Given the description of an element on the screen output the (x, y) to click on. 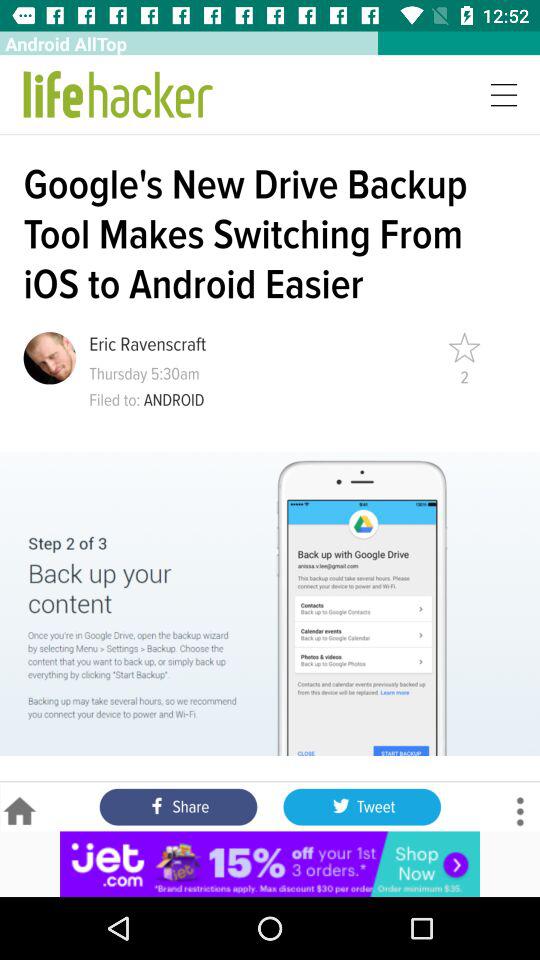
open settings (520, 811)
